Given the description of an element on the screen output the (x, y) to click on. 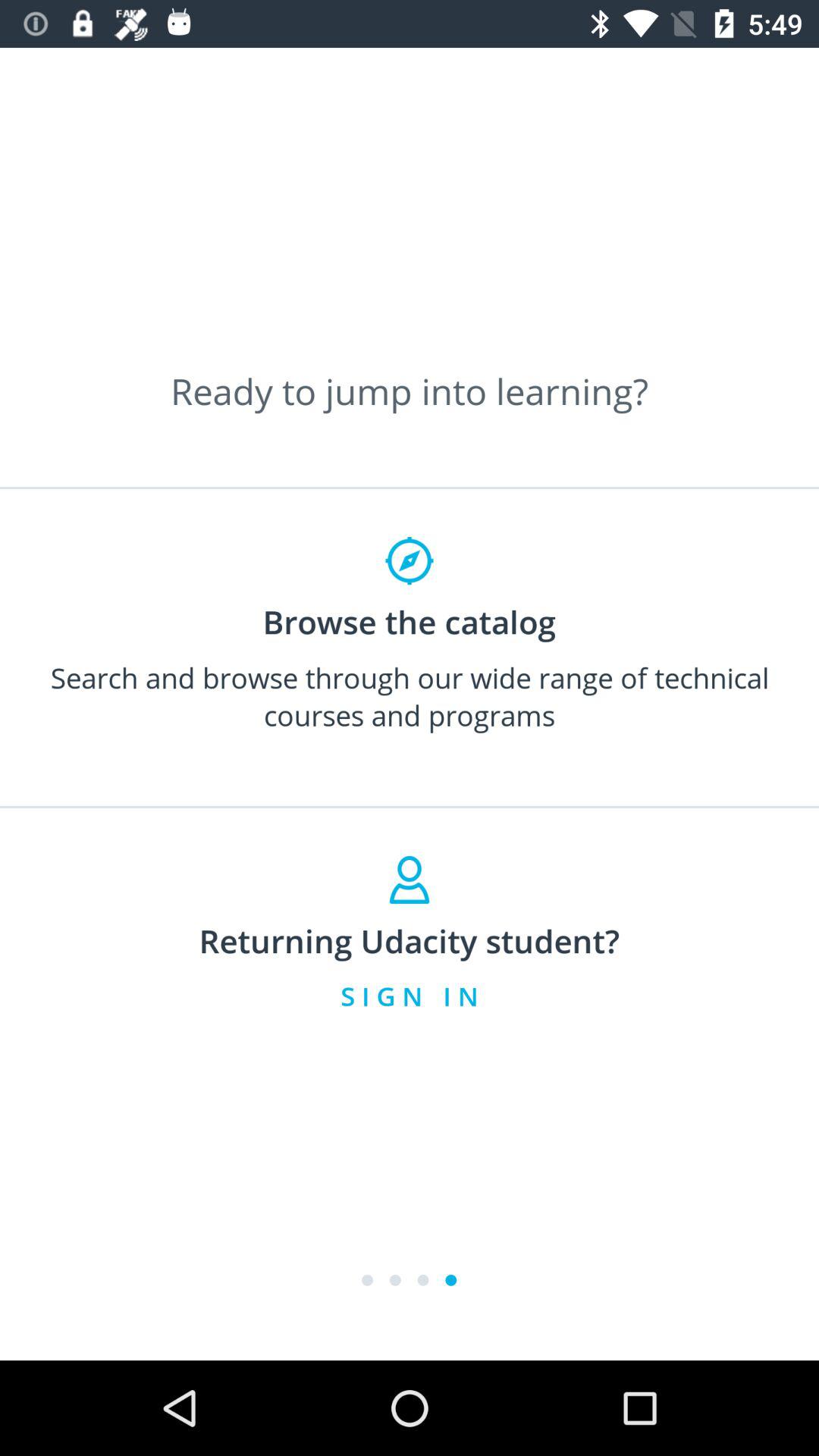
select the sign in (409, 995)
